Given the description of an element on the screen output the (x, y) to click on. 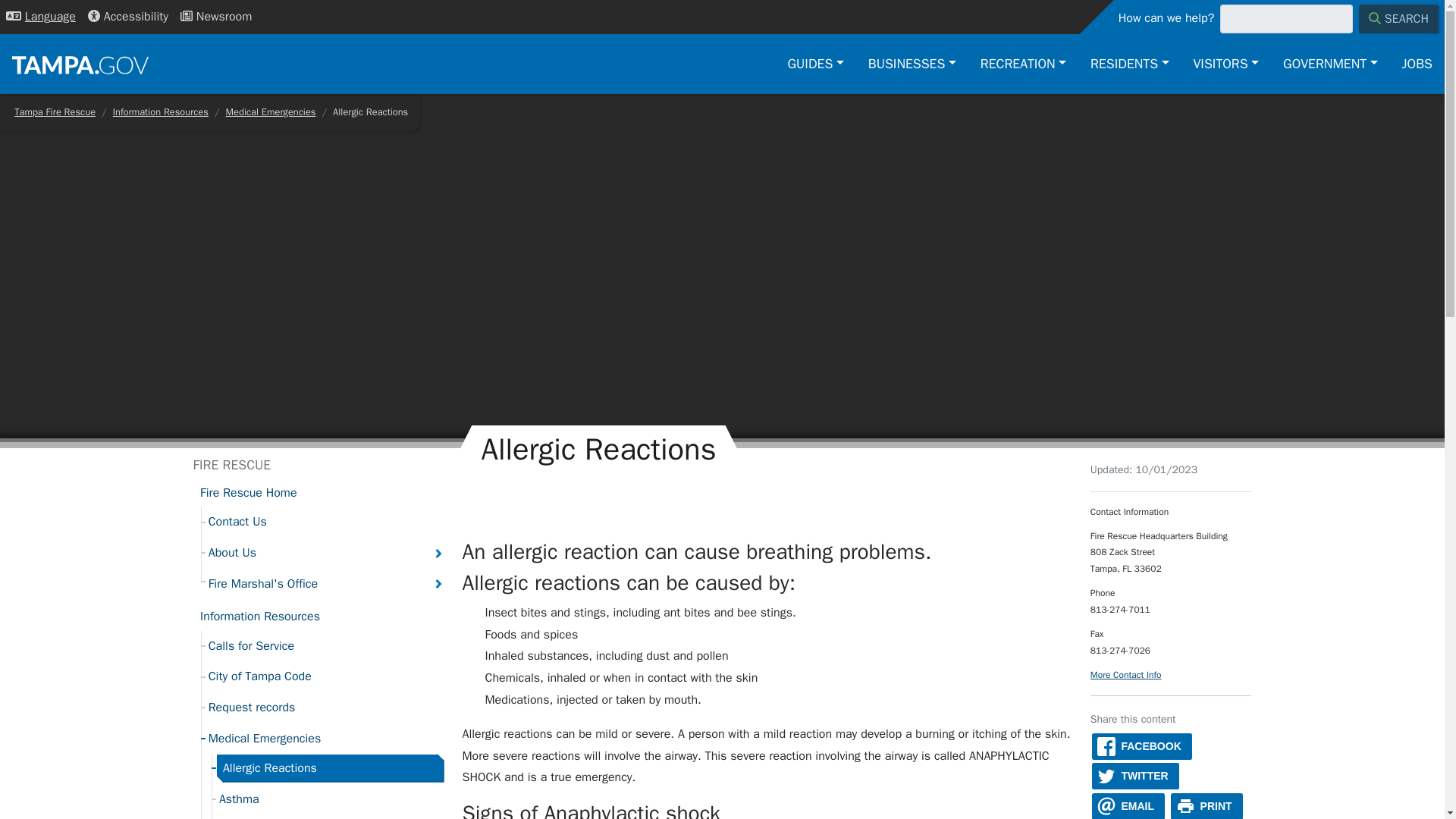
GUIDES (816, 64)
BUSINESSES (912, 64)
Accessibility (127, 17)
Public records requests (325, 707)
Newsroom (215, 17)
SEARCH (1398, 18)
Language (40, 17)
